Given the description of an element on the screen output the (x, y) to click on. 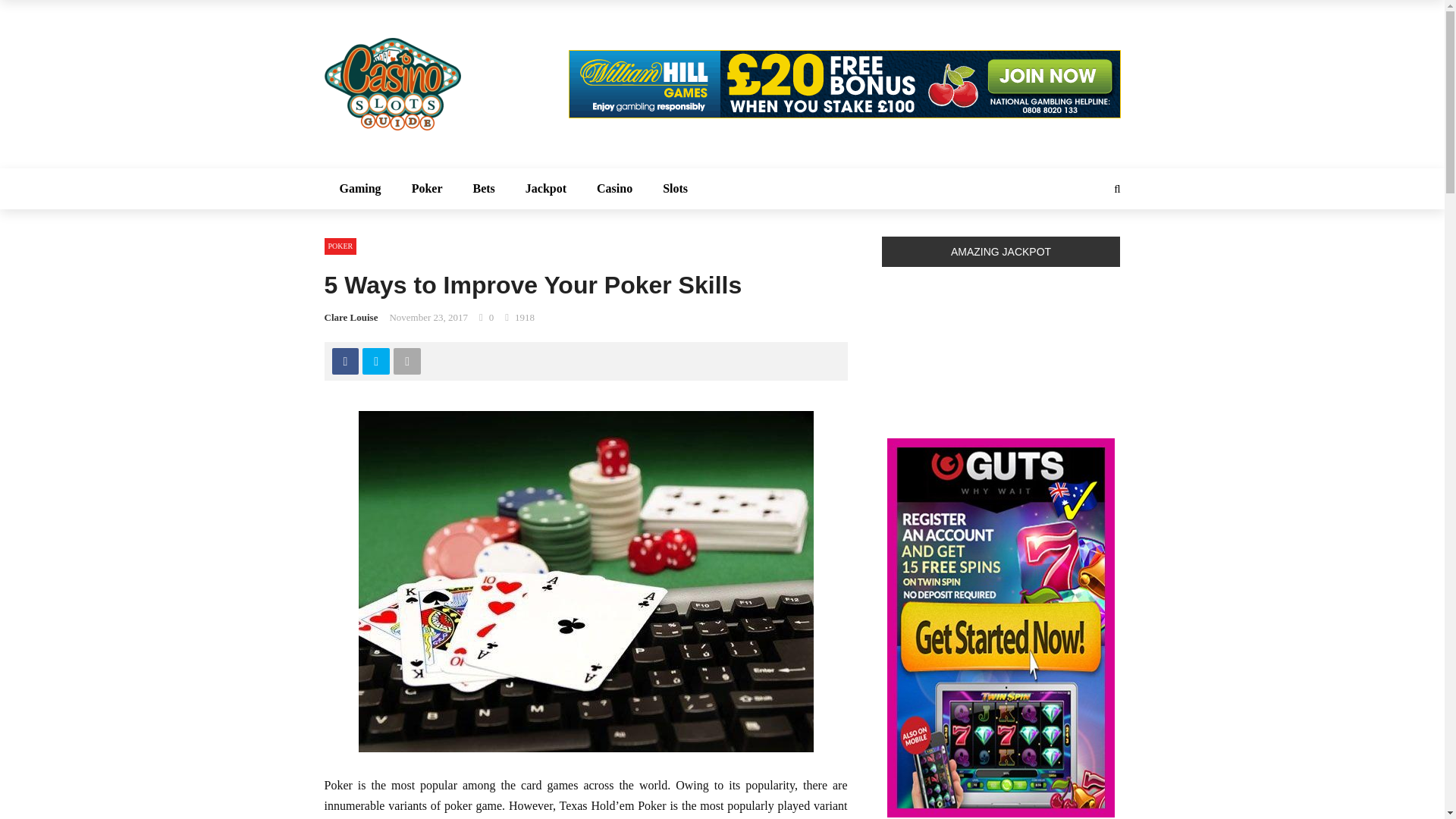
Clare Louise (351, 317)
Casino (613, 188)
POKER (340, 246)
Slots (675, 188)
Bets (484, 188)
Gaming (360, 188)
Poker (427, 188)
Jackpot (545, 188)
